Given the description of an element on the screen output the (x, y) to click on. 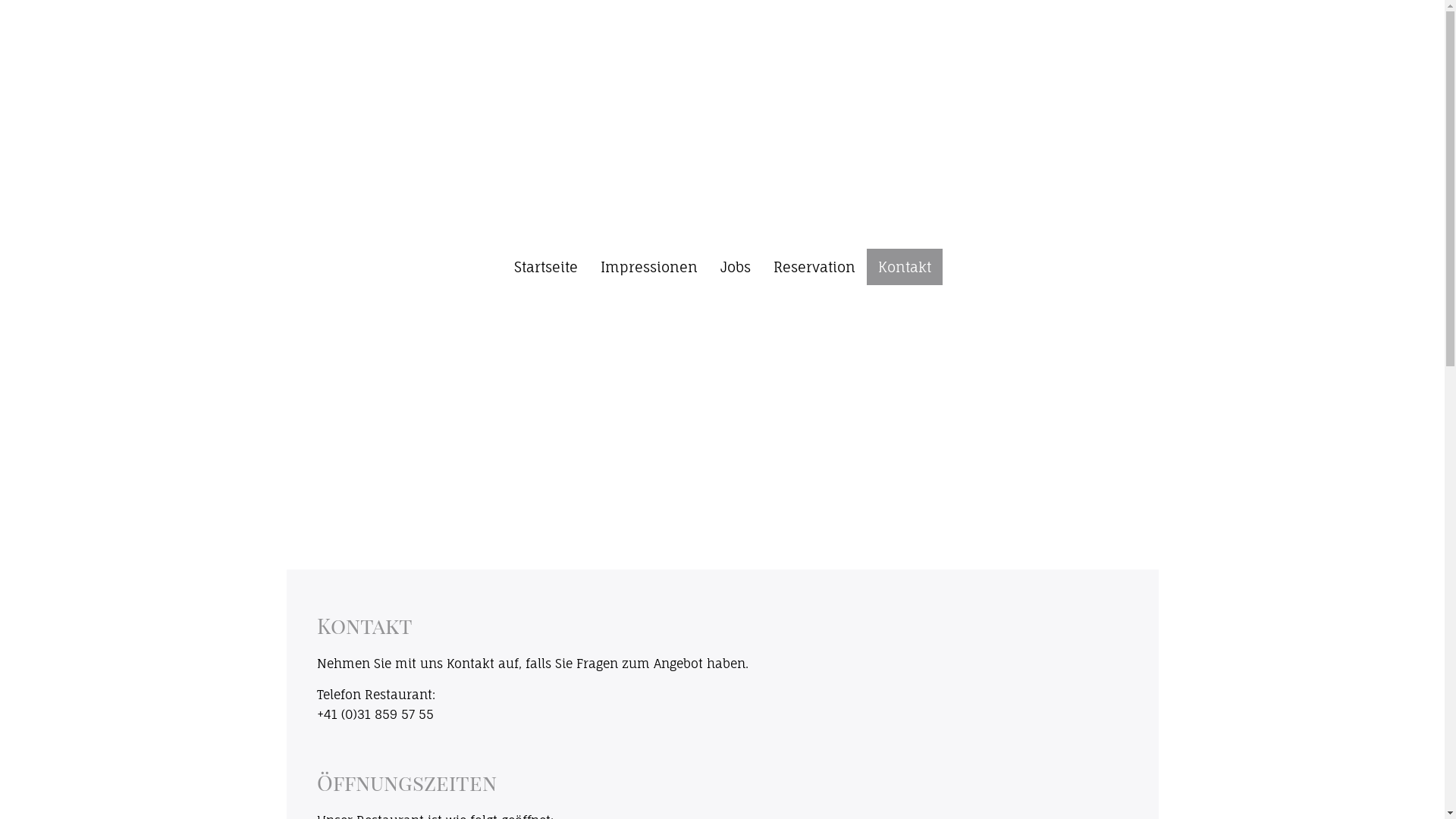
Reservation Element type: text (813, 266)
Startseite Element type: text (545, 266)
Jobs Element type: text (734, 266)
Kontakt Element type: text (903, 266)
Impressionen Element type: text (648, 266)
